Given the description of an element on the screen output the (x, y) to click on. 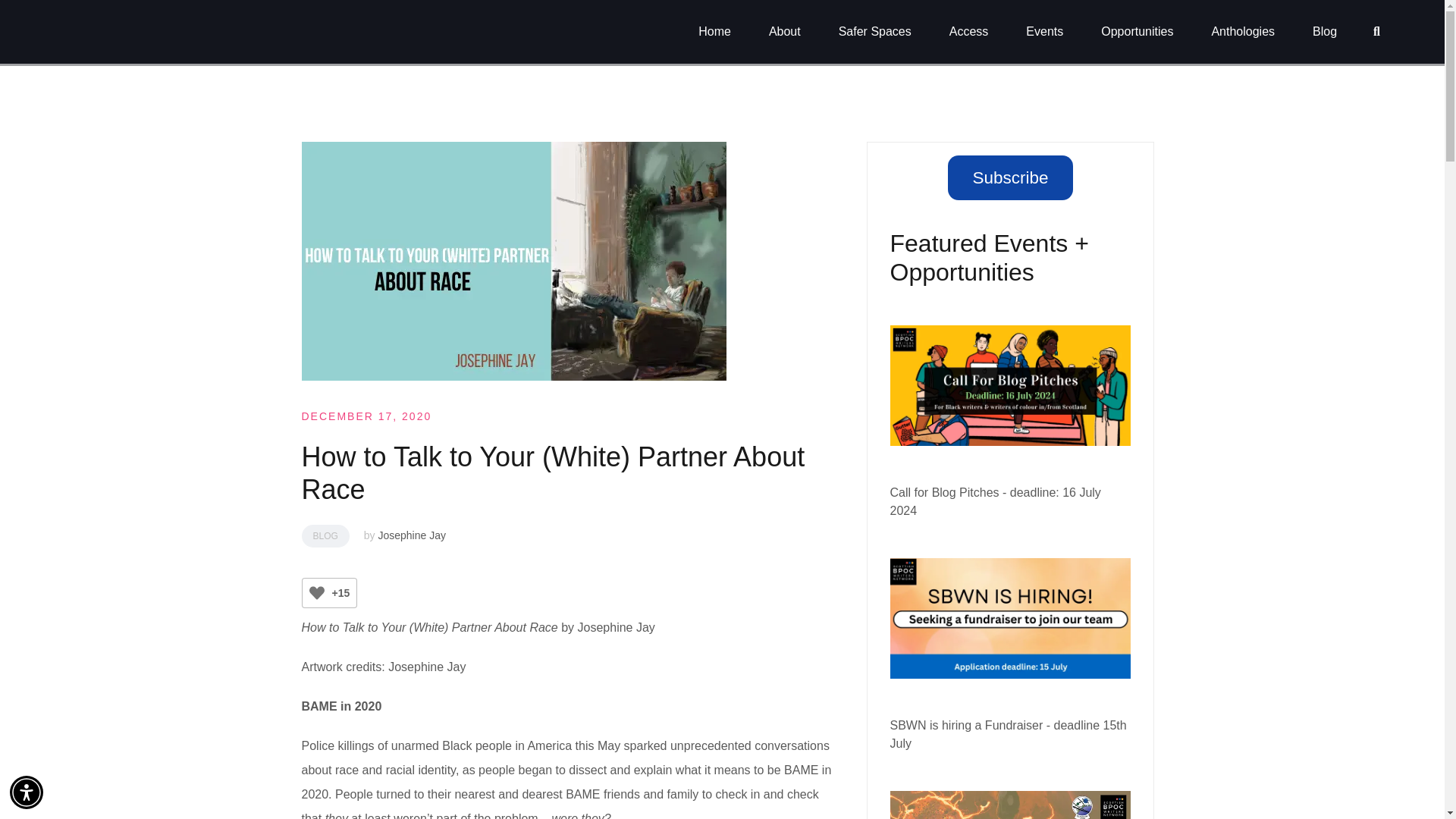
SBWN is hiring a Fundraiser - deadline 15th July (1007, 734)
Safer Spaces (874, 31)
Subscribe (1009, 177)
Events (1044, 31)
Call for Blog Pitches - deadline: 16 July 2024 (994, 501)
BLOG (325, 535)
Opportunities (1136, 31)
Blog (1324, 31)
Accessibility Menu (26, 792)
Josephine Jay (411, 535)
Anthologies (1243, 31)
DECEMBER 17, 2020 (366, 416)
Access (968, 31)
About (784, 31)
Home (714, 31)
